Given the description of an element on the screen output the (x, y) to click on. 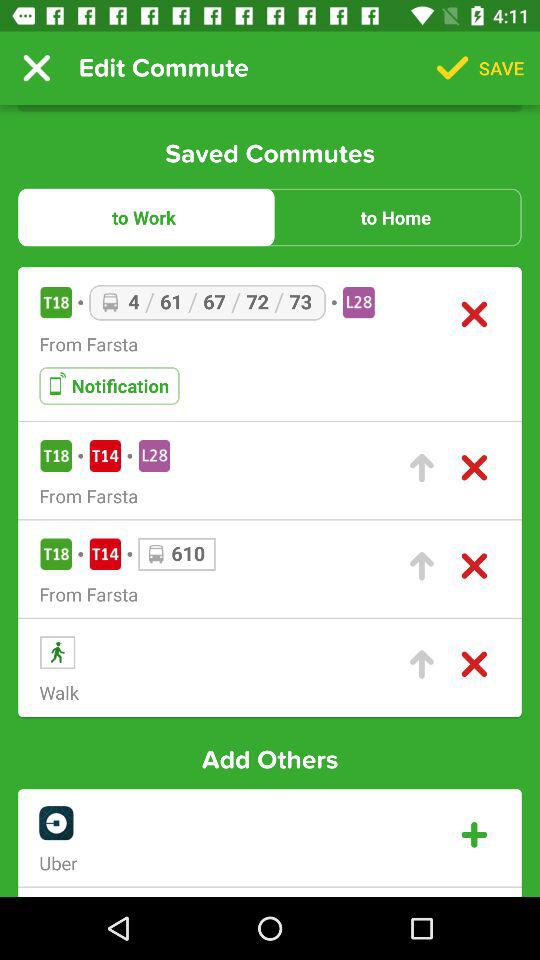
delete route (474, 314)
